Given the description of an element on the screen output the (x, y) to click on. 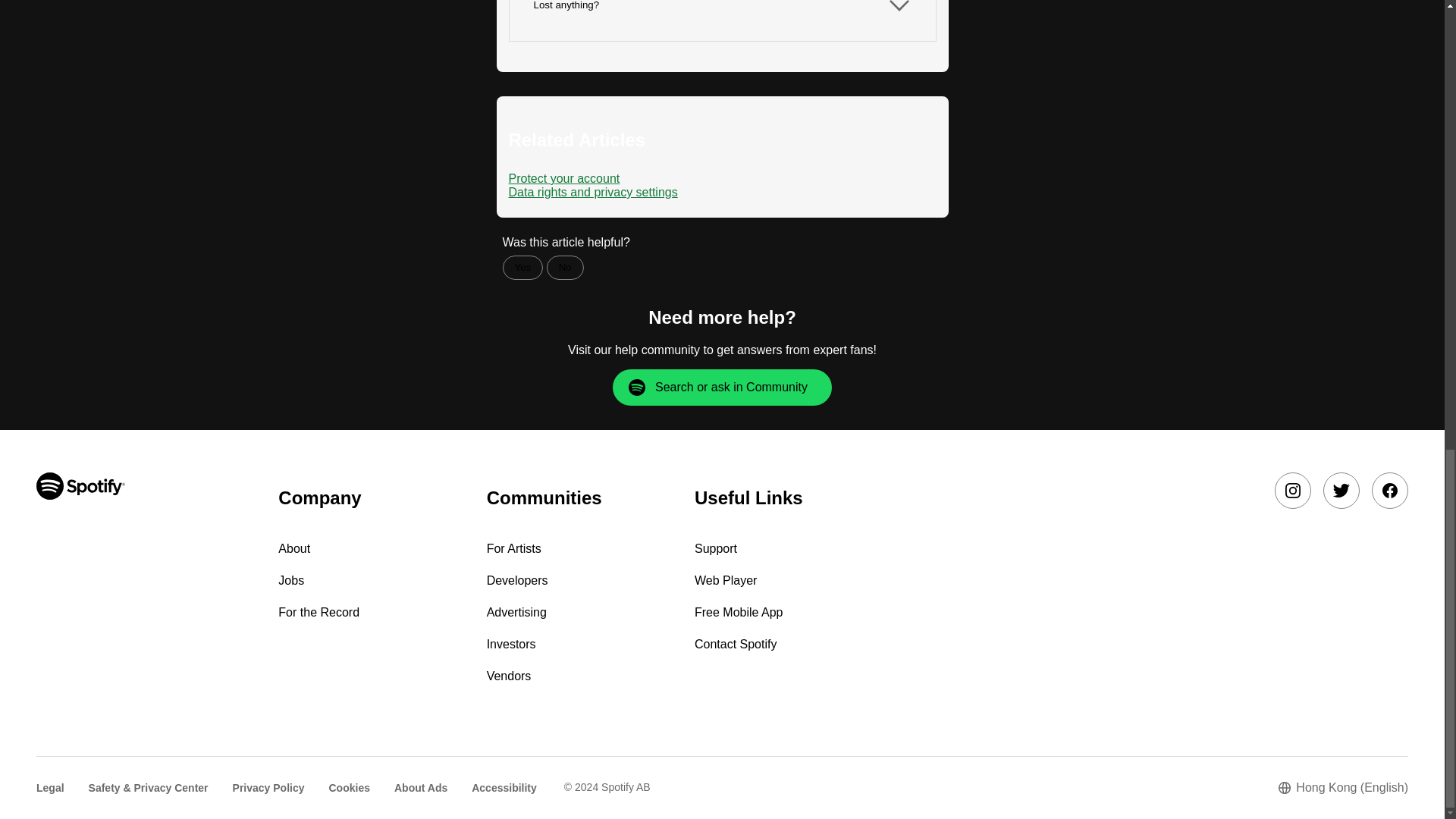
About (294, 548)
Data rights and privacy settings (592, 192)
Yes (522, 267)
Lost anything? (722, 20)
For Artists (513, 548)
Spotify (80, 485)
Advertising (516, 612)
Developers (517, 580)
Jobs (291, 580)
For the Record (318, 612)
